Given the description of an element on the screen output the (x, y) to click on. 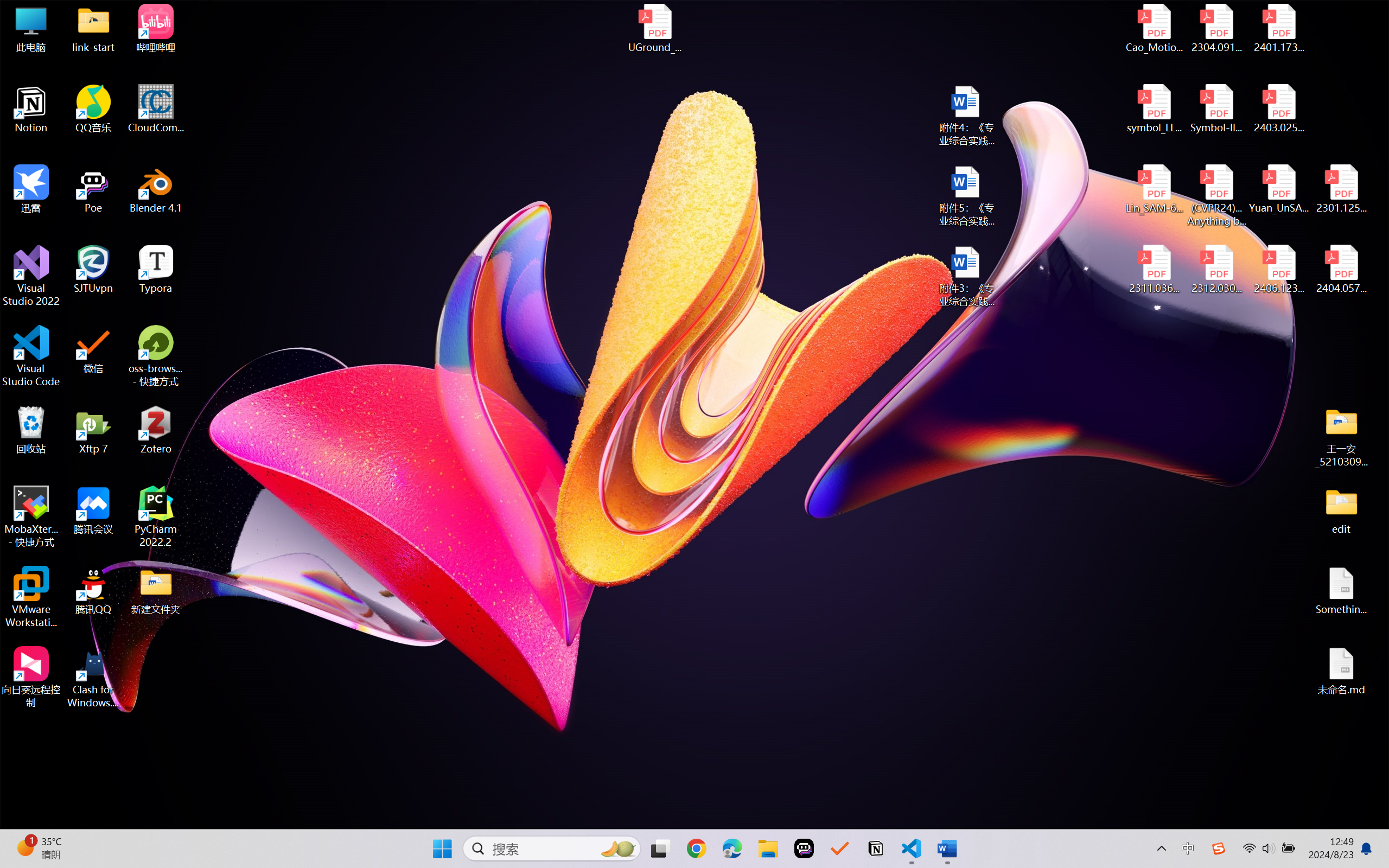
Typora (156, 269)
2406.12373v2.pdf (1278, 269)
Something.md (1340, 591)
UGround_paper.pdf (654, 28)
CloudCompare (156, 109)
symbol_LLM.pdf (1154, 109)
